Given the description of an element on the screen output the (x, y) to click on. 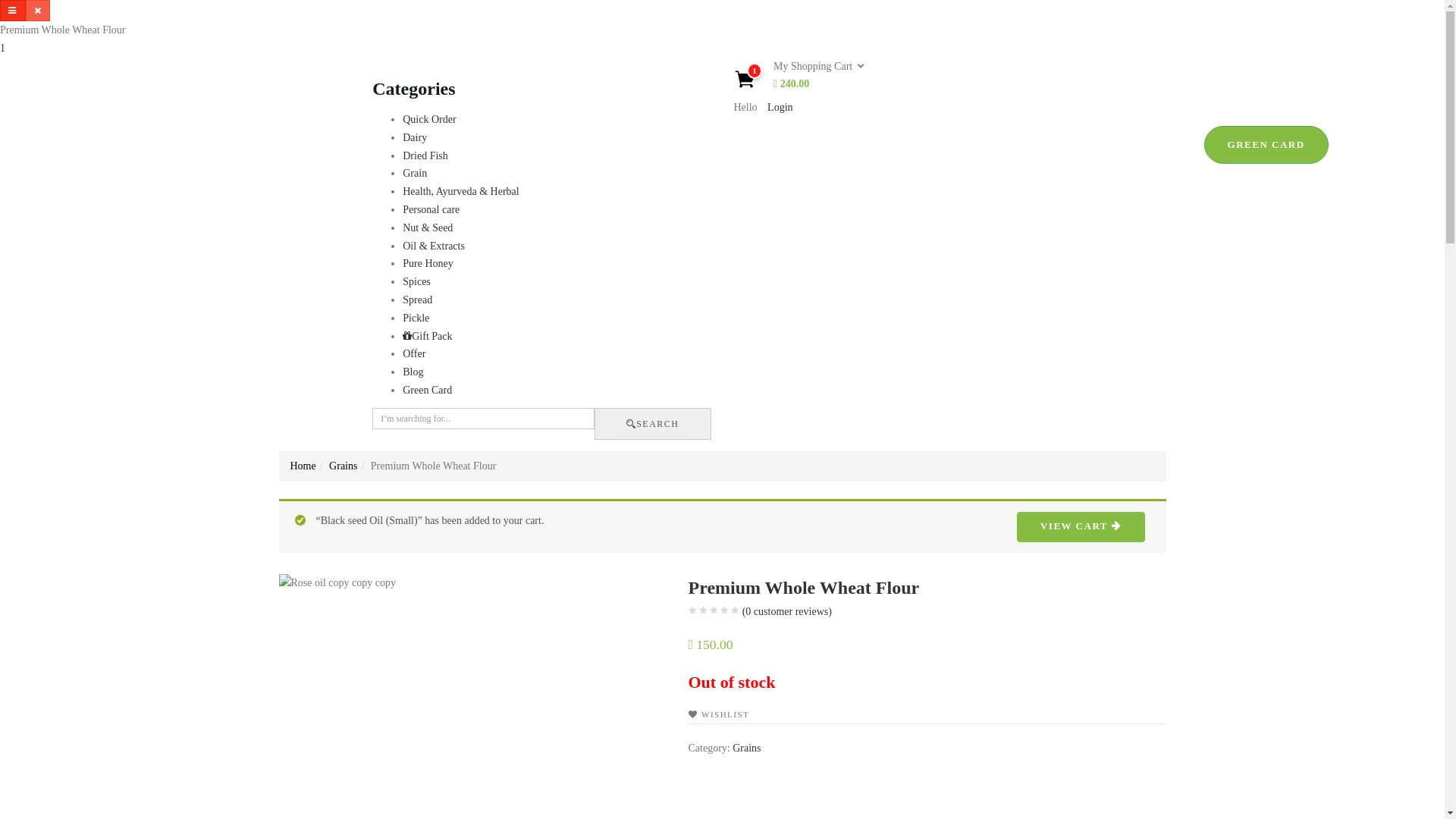
1 Element type: text (2, 47)
Home Element type: text (302, 465)
Blog Element type: text (412, 371)
Health, Ayurveda & Herbal Element type: text (460, 191)
Dairy Element type: text (414, 137)
VIEW CART Element type: text (1080, 526)
Pickle Element type: text (415, 317)
Spices Element type: text (416, 281)
Dried Fish Element type: text (425, 155)
Quick Order Element type: text (428, 119)
Offer Element type: text (413, 353)
Grain Element type: text (414, 172)
Personal care Element type: text (430, 209)
(0 customer reviews) Element type: text (786, 611)
GREEN CARD Element type: text (1266, 144)
WISHLIST Element type: text (718, 713)
Pure Honey Element type: text (427, 263)
Nut & Seed Element type: text (427, 227)
Oil & Extracts Element type: text (433, 245)
SEARCH Element type: text (652, 423)
Gift Pack Element type: text (426, 336)
Login Element type: text (779, 106)
Grains Element type: text (746, 747)
Green Card Element type: text (426, 389)
Grains Element type: text (343, 465)
Spread Element type: text (417, 299)
